Given the description of an element on the screen output the (x, y) to click on. 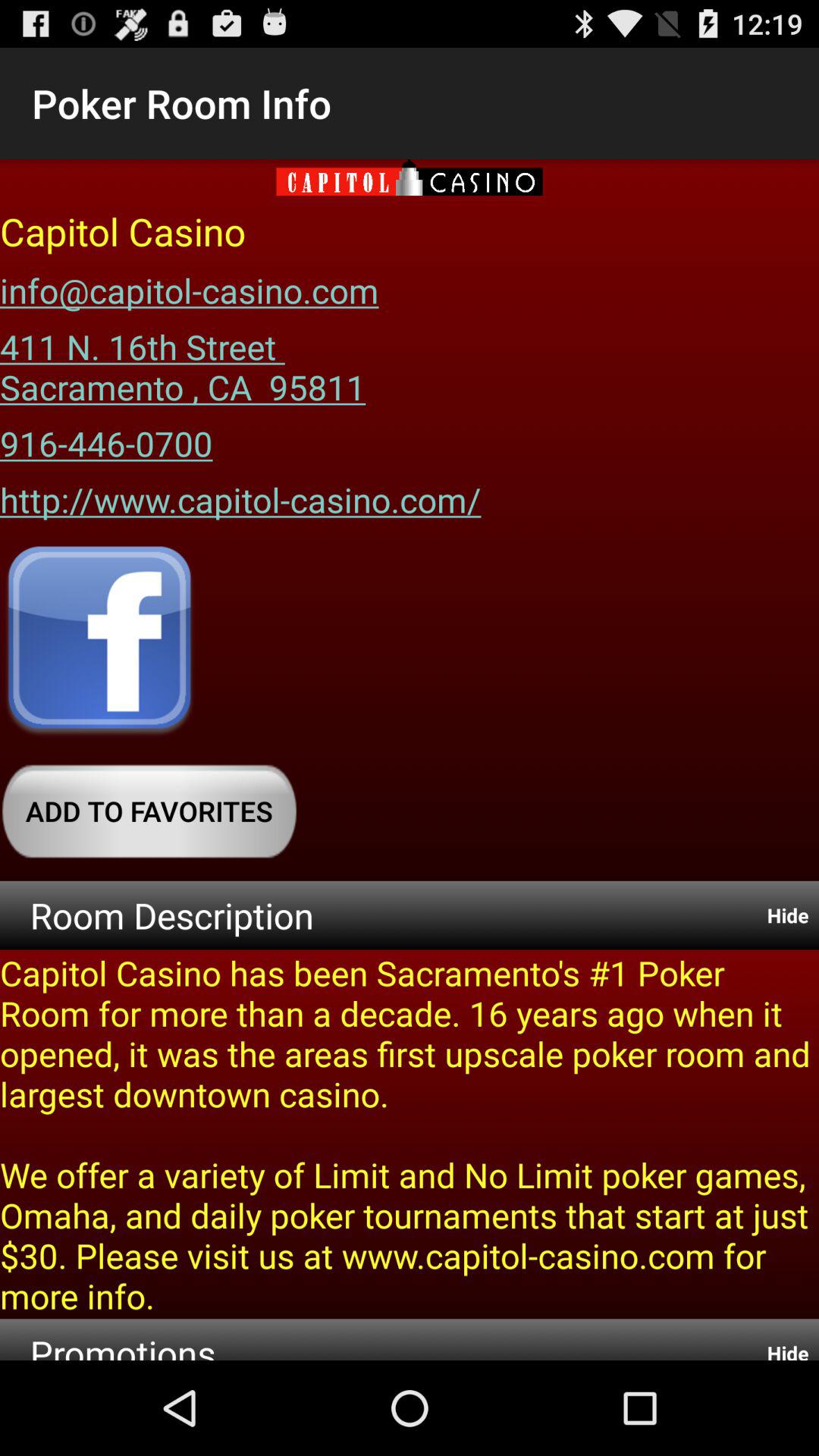
press the item above http www capitol icon (106, 438)
